Given the description of an element on the screen output the (x, y) to click on. 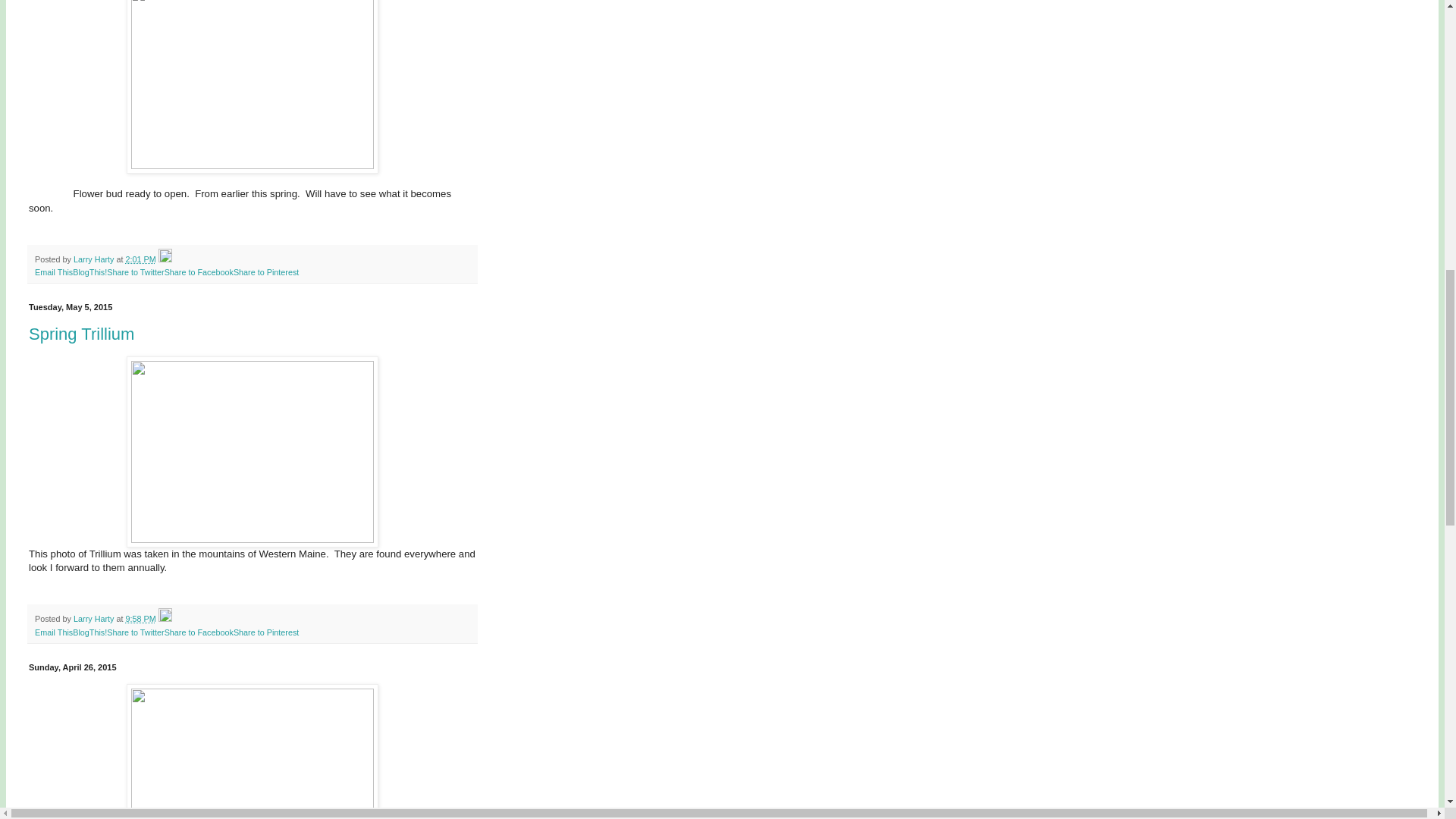
Larry Harty (95, 618)
Email This (53, 271)
Share to Pinterest (265, 632)
BlogThis! (89, 271)
author profile (95, 258)
Email This (53, 271)
Spring Trillium (81, 333)
BlogThis! (89, 271)
permanent link (140, 258)
Share to Facebook (198, 632)
Email This (53, 632)
Edit Post (164, 258)
Larry Harty (95, 258)
Share to Facebook (198, 271)
2:01 PM (140, 258)
